Given the description of an element on the screen output the (x, y) to click on. 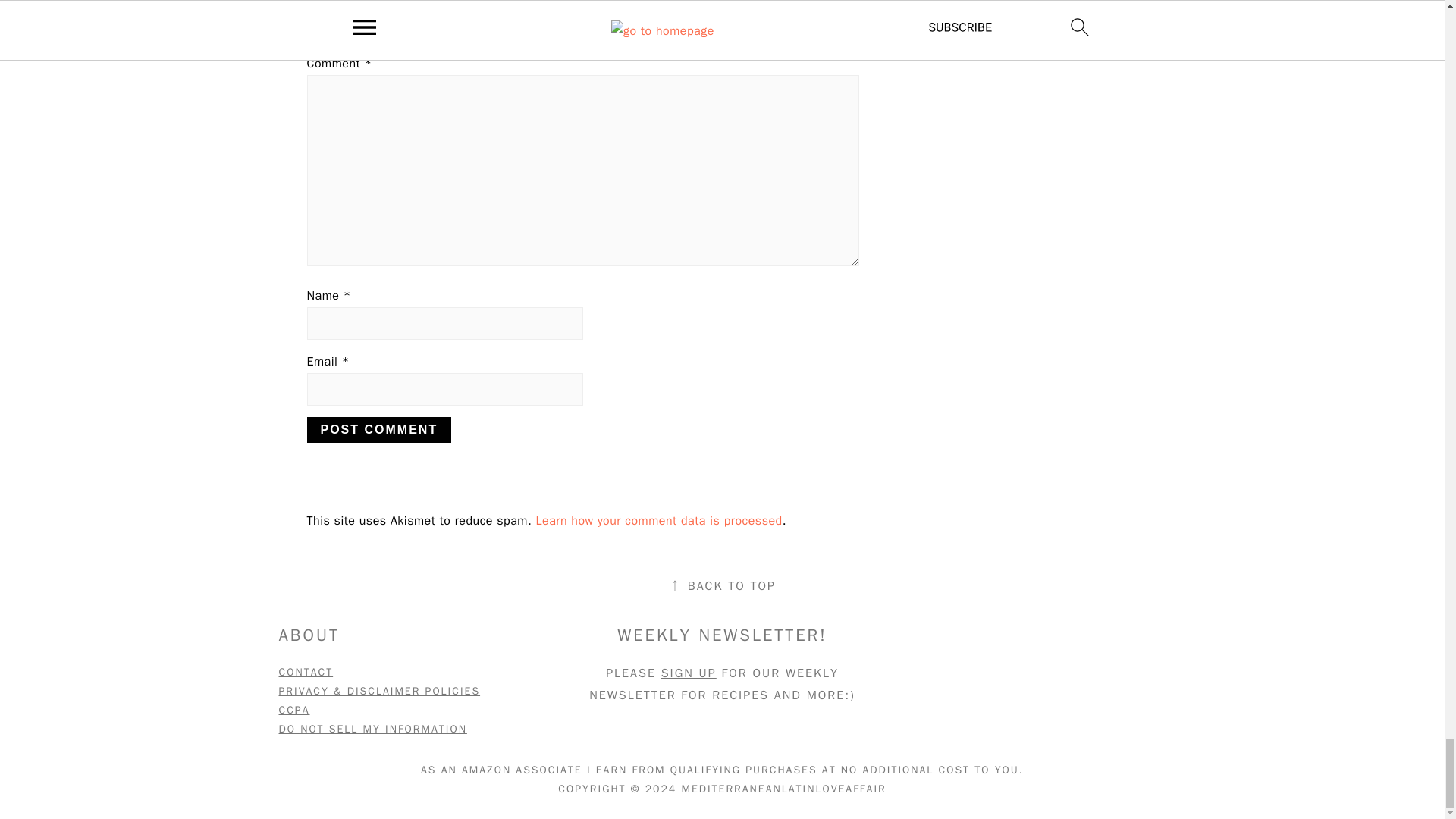
Post Comment (378, 429)
